Given the description of an element on the screen output the (x, y) to click on. 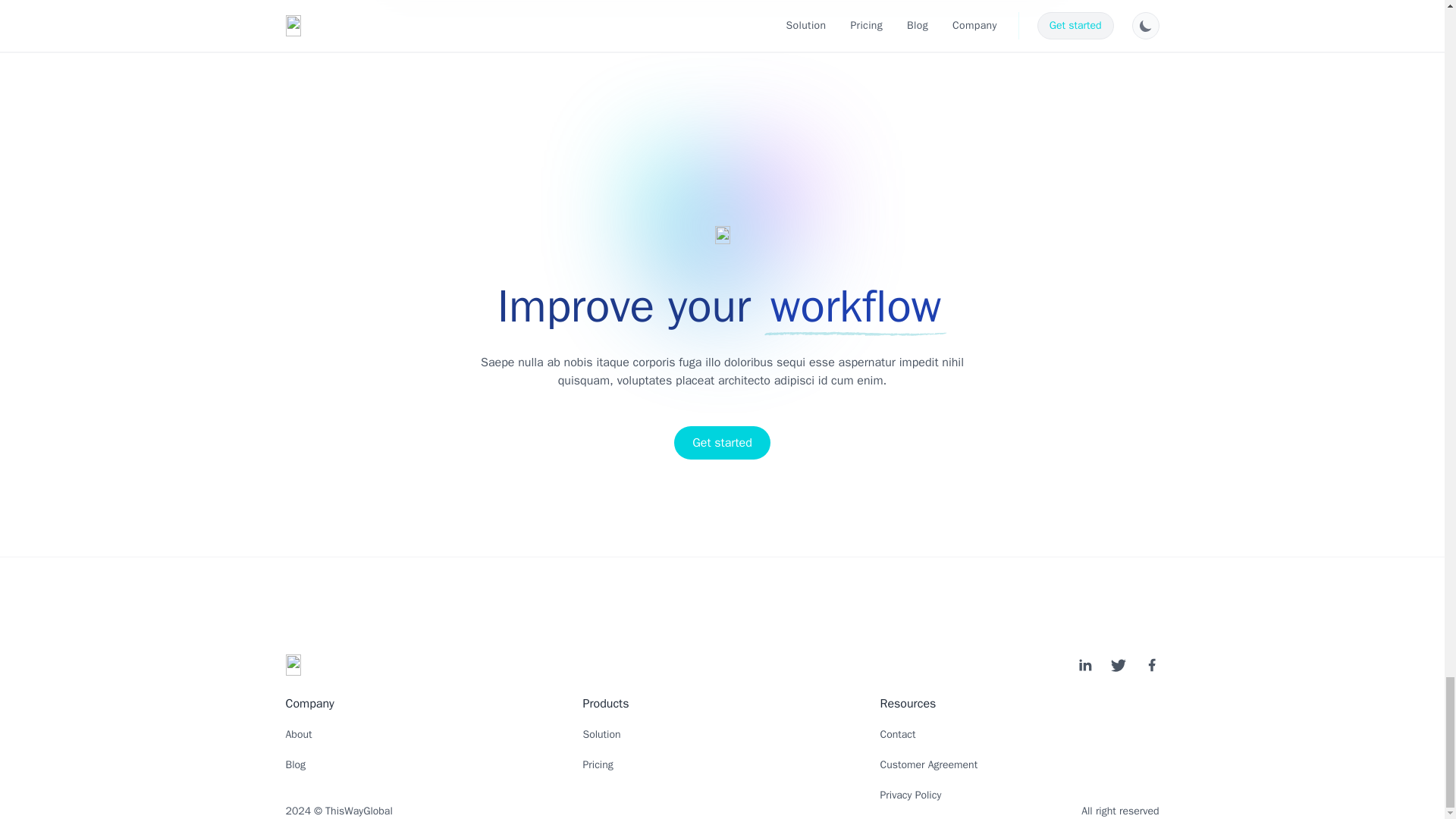
Get started (722, 442)
LinkedIn (1084, 664)
Blog (295, 764)
Privacy Policy (909, 794)
Contact (897, 734)
facebook (1150, 664)
Twitter (1117, 664)
Customer Agreement (927, 764)
Solution (601, 734)
Pricing (597, 764)
